Given the description of an element on the screen output the (x, y) to click on. 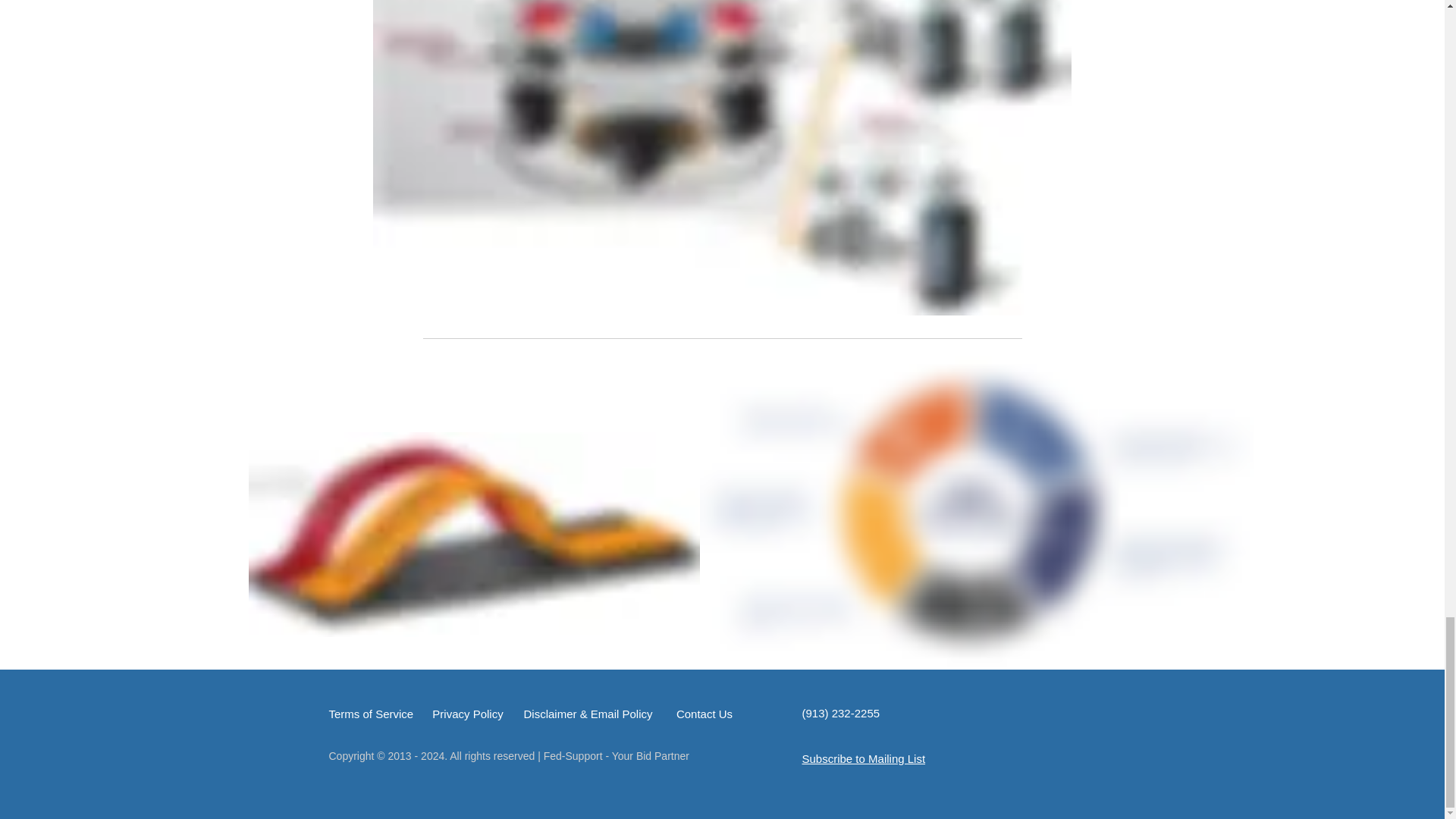
Privacy Policy (467, 714)
Subscribe to Mailing List (864, 758)
Contact Us (703, 714)
Terms of Service (371, 714)
